Given the description of an element on the screen output the (x, y) to click on. 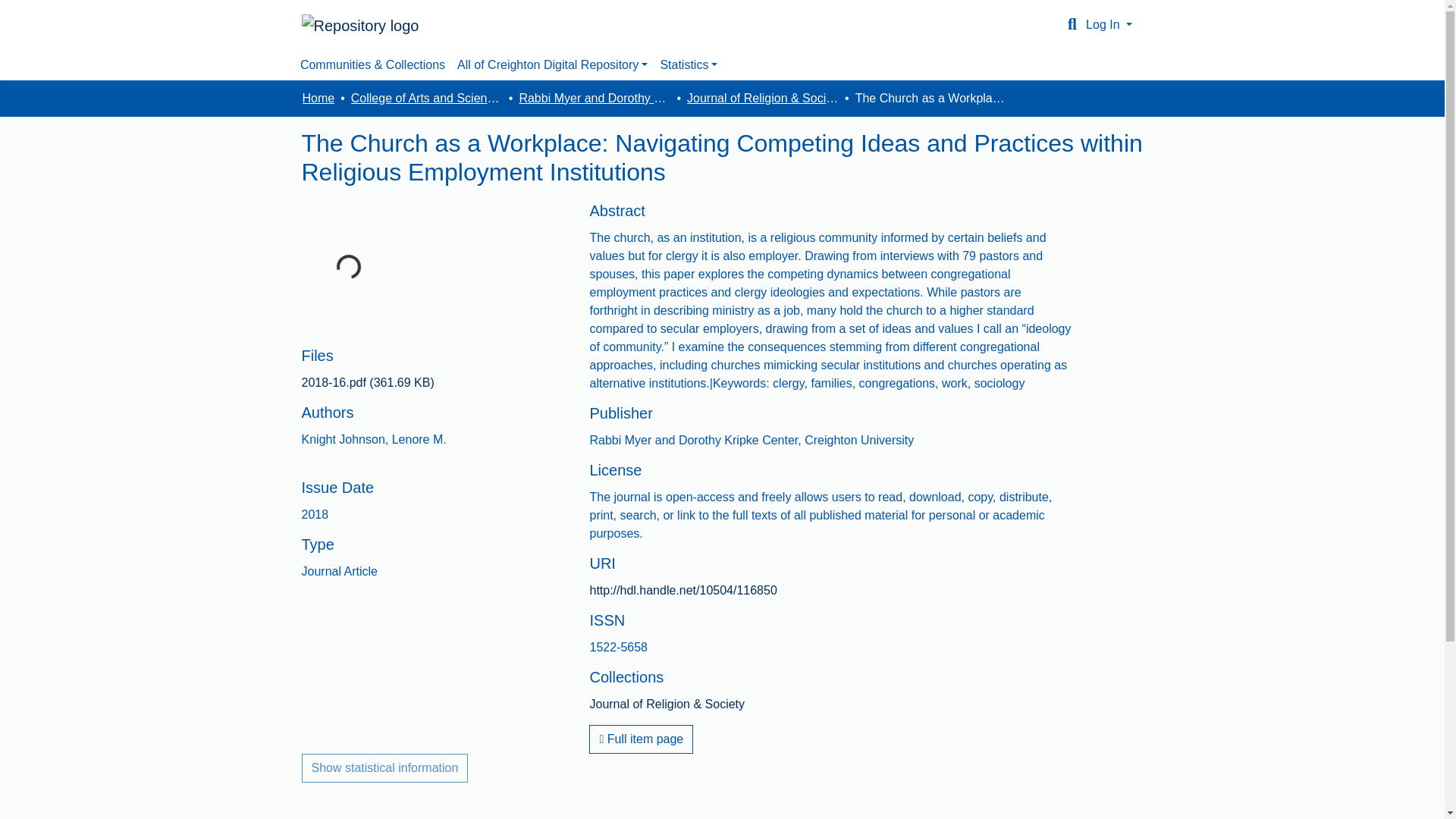
All of Creighton Digital Repository (552, 64)
Full item page (641, 738)
Search (1072, 24)
Home (317, 98)
Statistics (688, 64)
Log In (1108, 24)
College of Arts and Sciences (426, 98)
Show statistical information (384, 767)
